Given the description of an element on the screen output the (x, y) to click on. 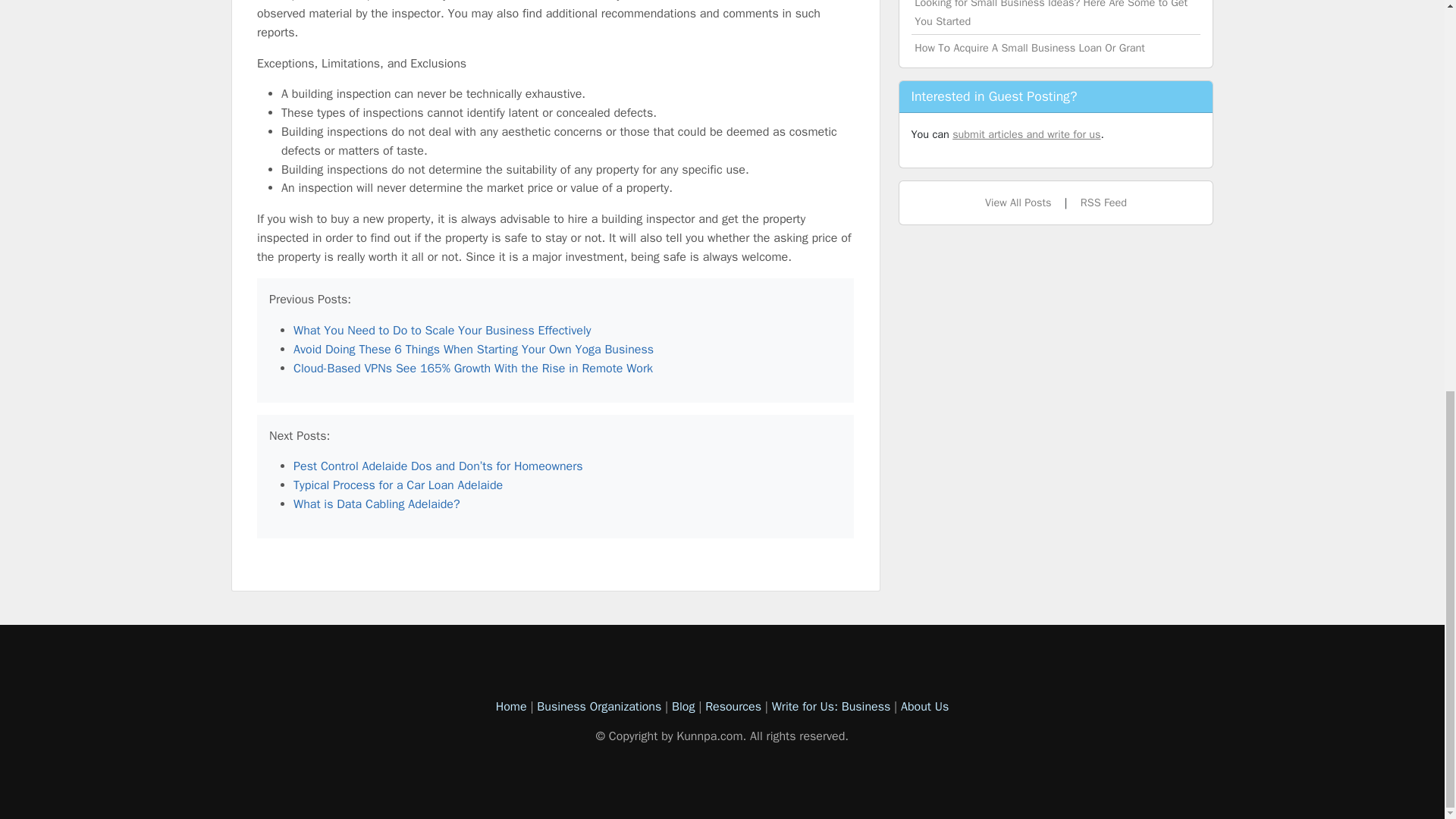
Typical Process for a Car Loan Adelaide (398, 485)
What is Data Cabling Adelaide? (377, 503)
Business Organizations (599, 706)
View All Posts (1018, 202)
What You Need to Do to Scale Your Business Effectively (442, 330)
Blog (682, 706)
submit articles and write for us (1026, 133)
RSS Feed (1103, 202)
Home (511, 706)
